Given the description of an element on the screen output the (x, y) to click on. 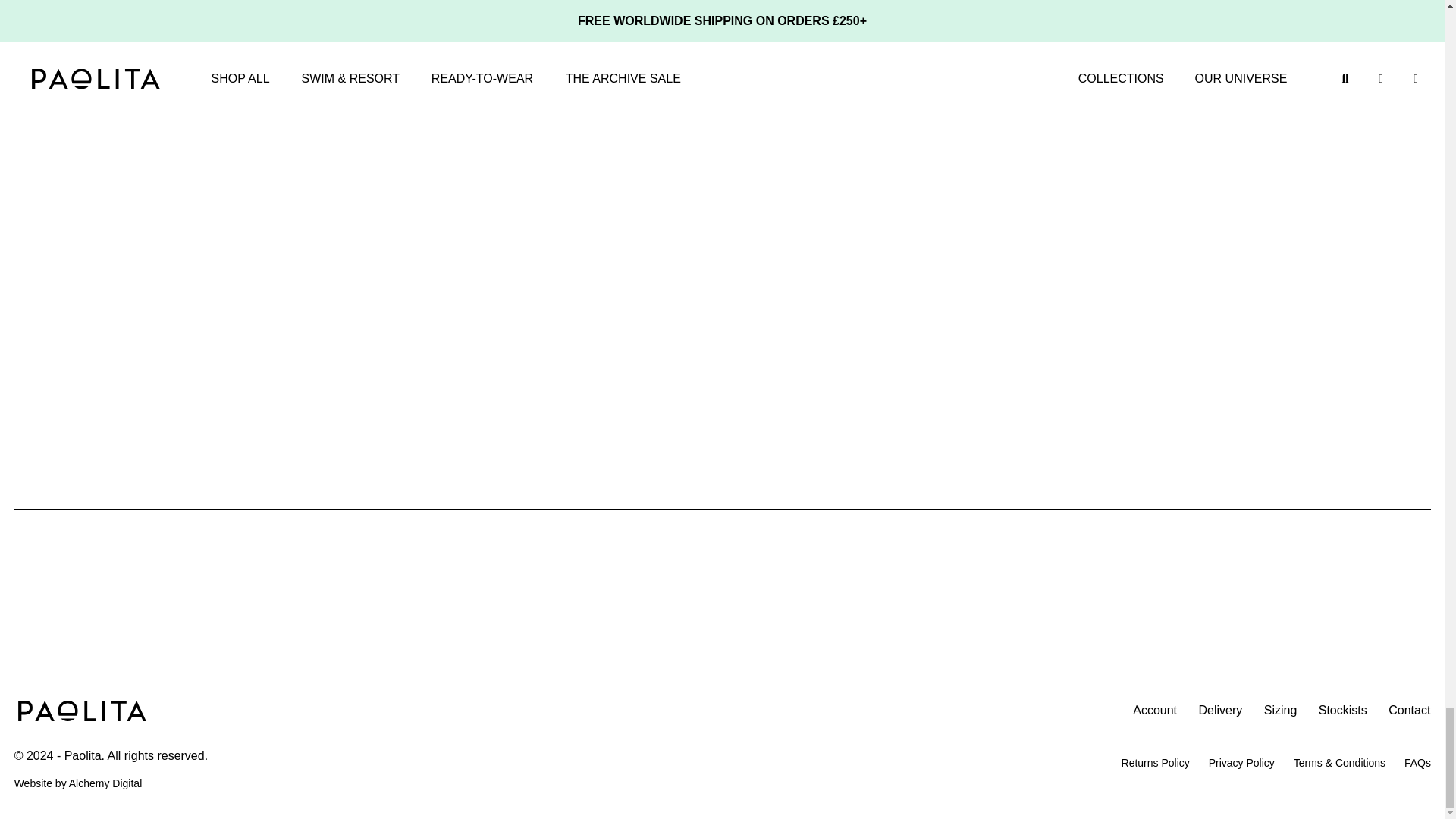
Website by Alchemy Digital (104, 783)
